Given the description of an element on the screen output the (x, y) to click on. 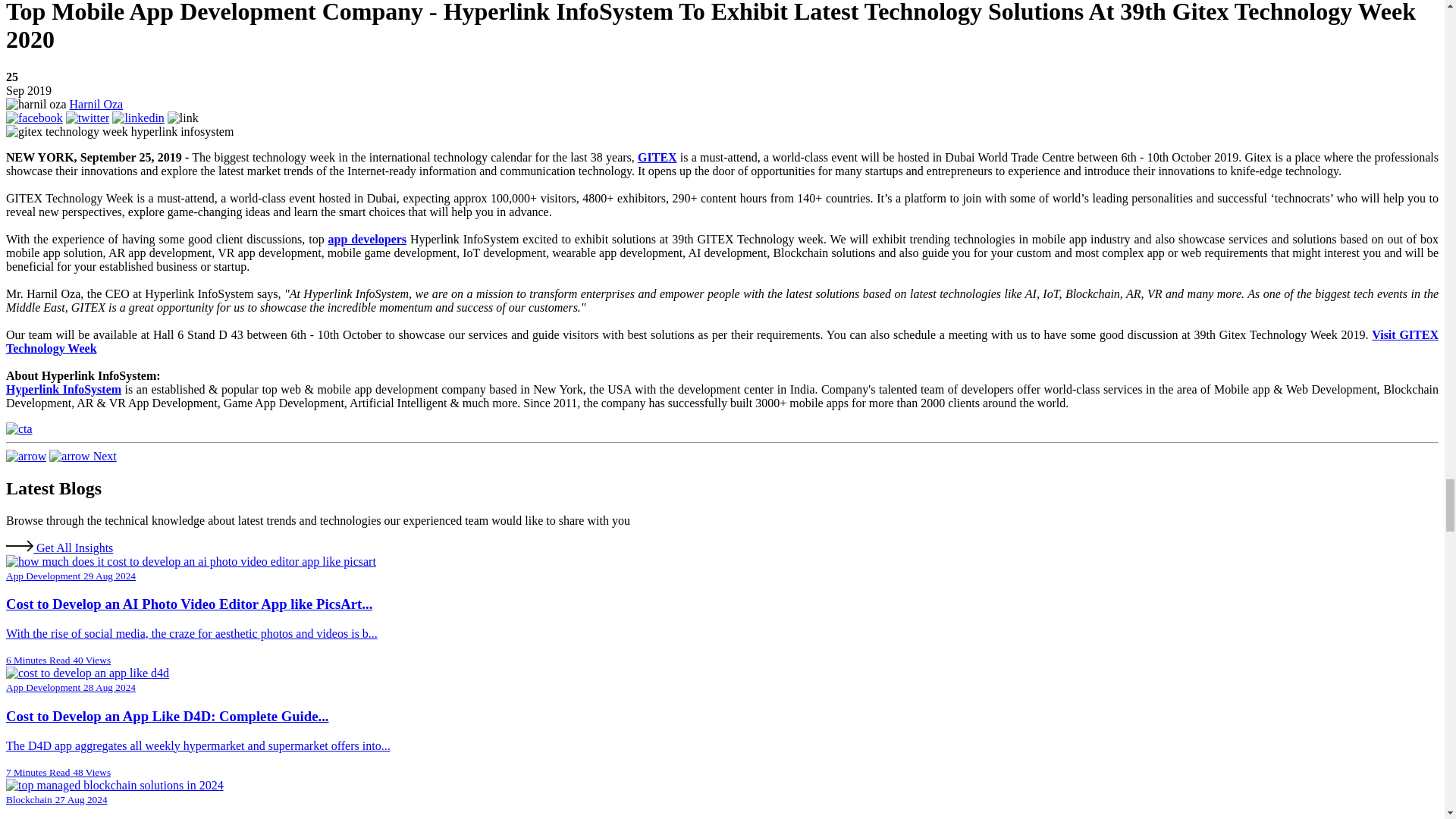
Cost to Develop an App Like D4D (86, 673)
Gitex Technology Week (118, 131)
Harnil Oza (35, 104)
Top Managed Blockchain Solutions in 2024 (114, 785)
